Given the description of an element on the screen output the (x, y) to click on. 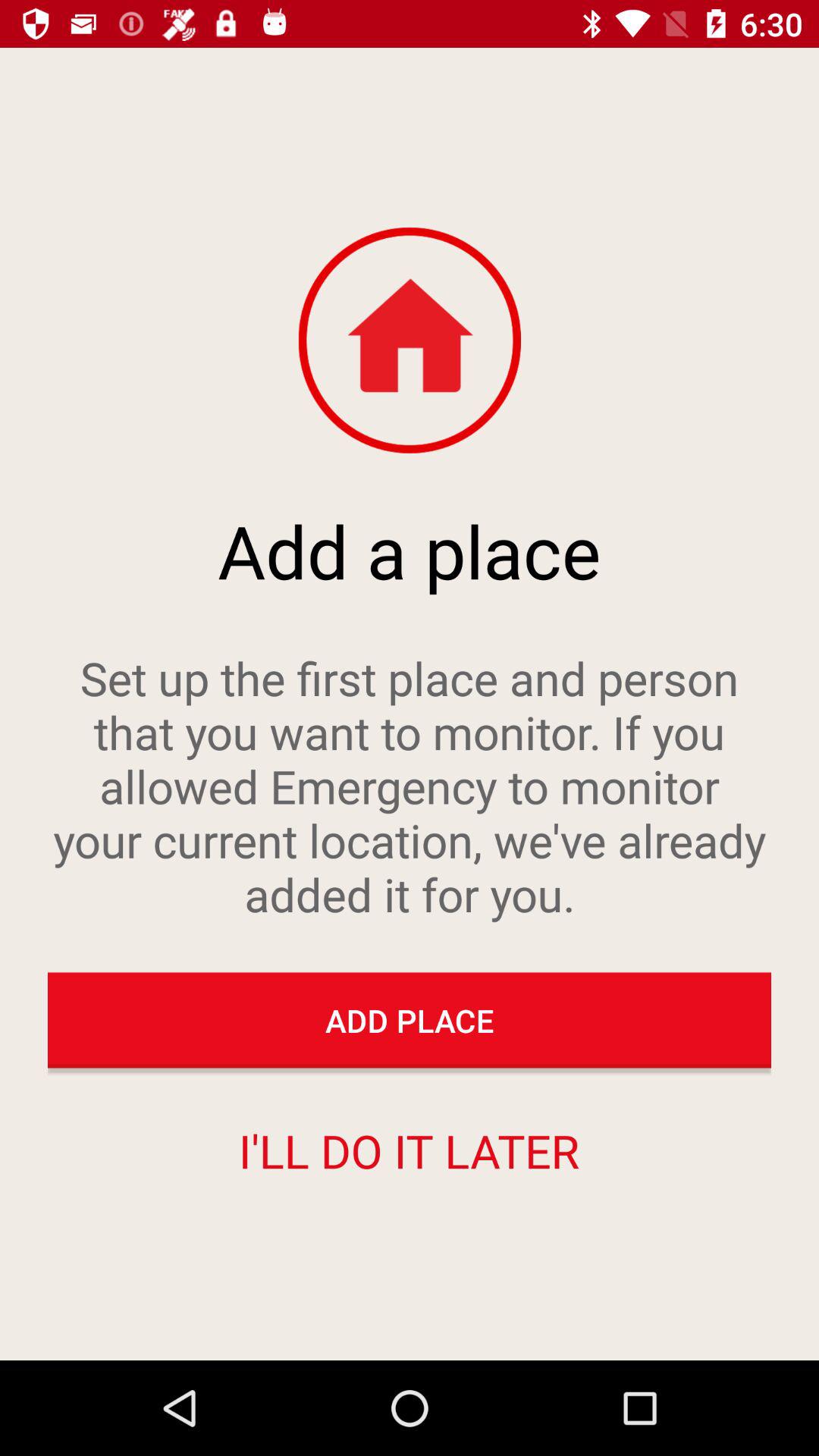
open item below add place item (408, 1150)
